Given the description of an element on the screen output the (x, y) to click on. 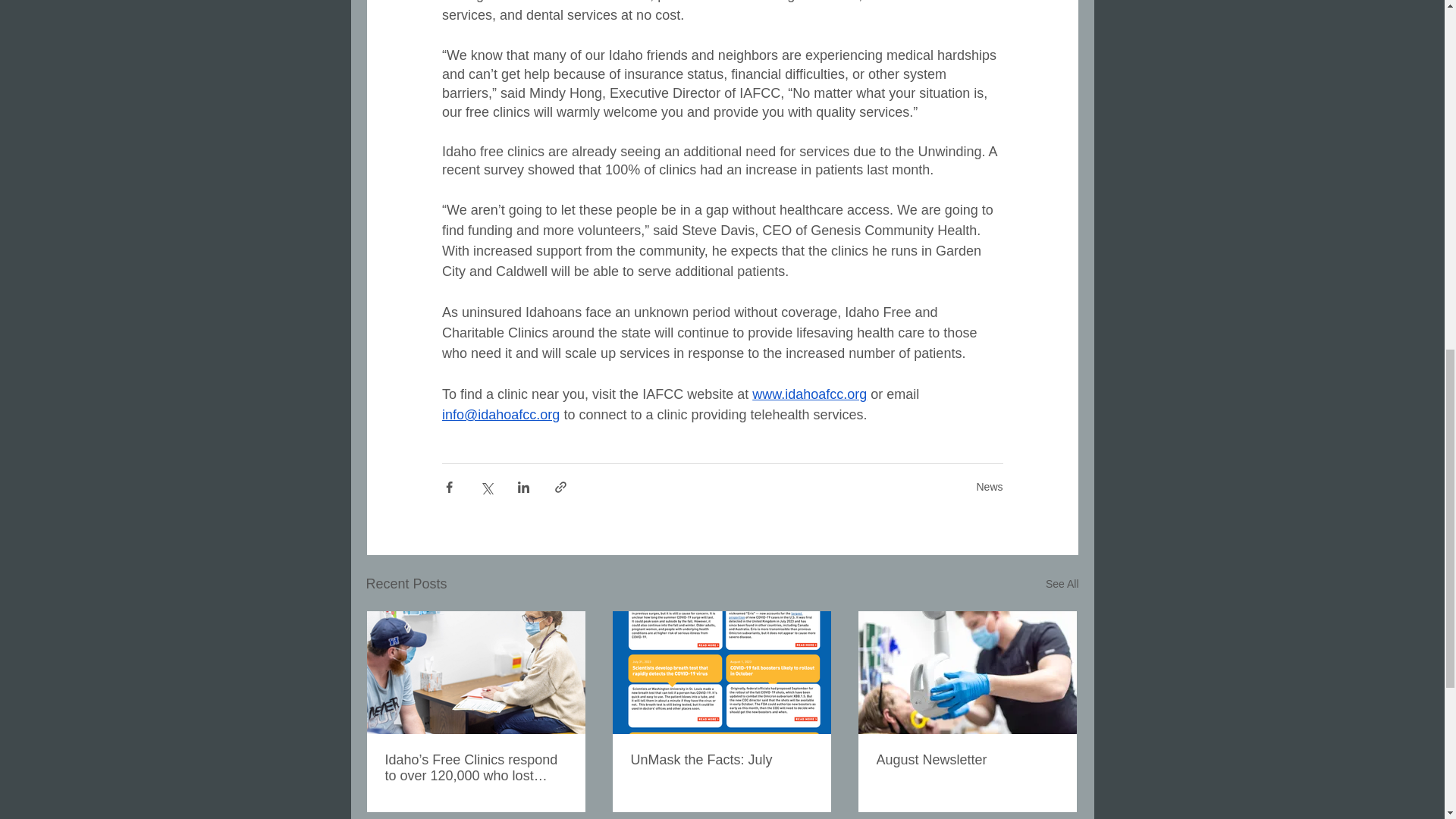
News (989, 486)
See All (1061, 584)
www.idahoafcc.org (809, 394)
